Given the description of an element on the screen output the (x, y) to click on. 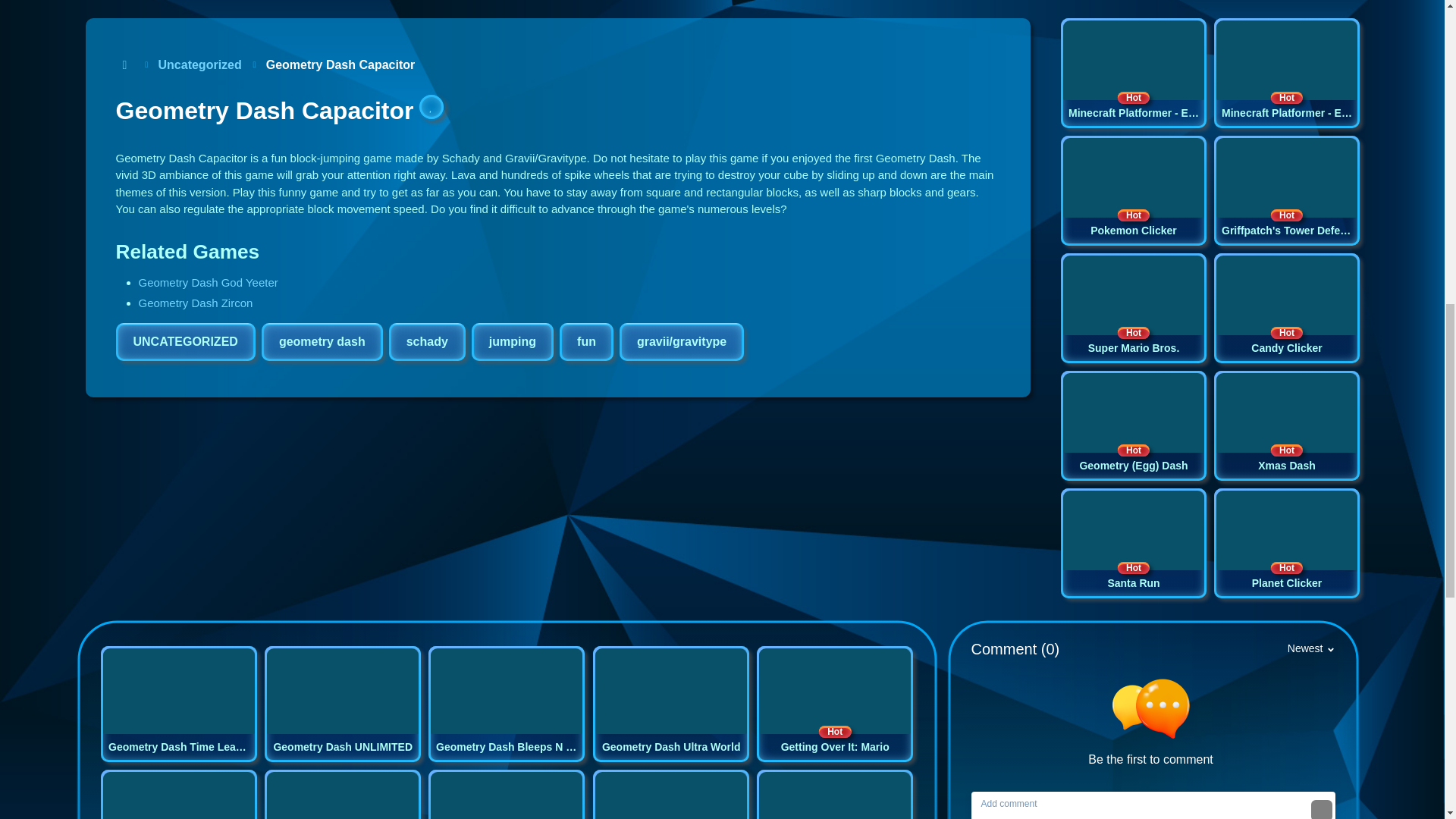
Geometry Dash Zircon (194, 302)
jumping (512, 341)
Home (124, 65)
Be the first to comment (1156, 723)
fun (585, 341)
Geometry Dash God Yeeter (208, 282)
UNCATEGORIZED (184, 341)
Uncategorized (1285, 190)
Schady (184, 341)
Geometry Dash (426, 341)
schady (322, 341)
geometry dash (1132, 190)
Uncategorized (426, 341)
